Given the description of an element on the screen output the (x, y) to click on. 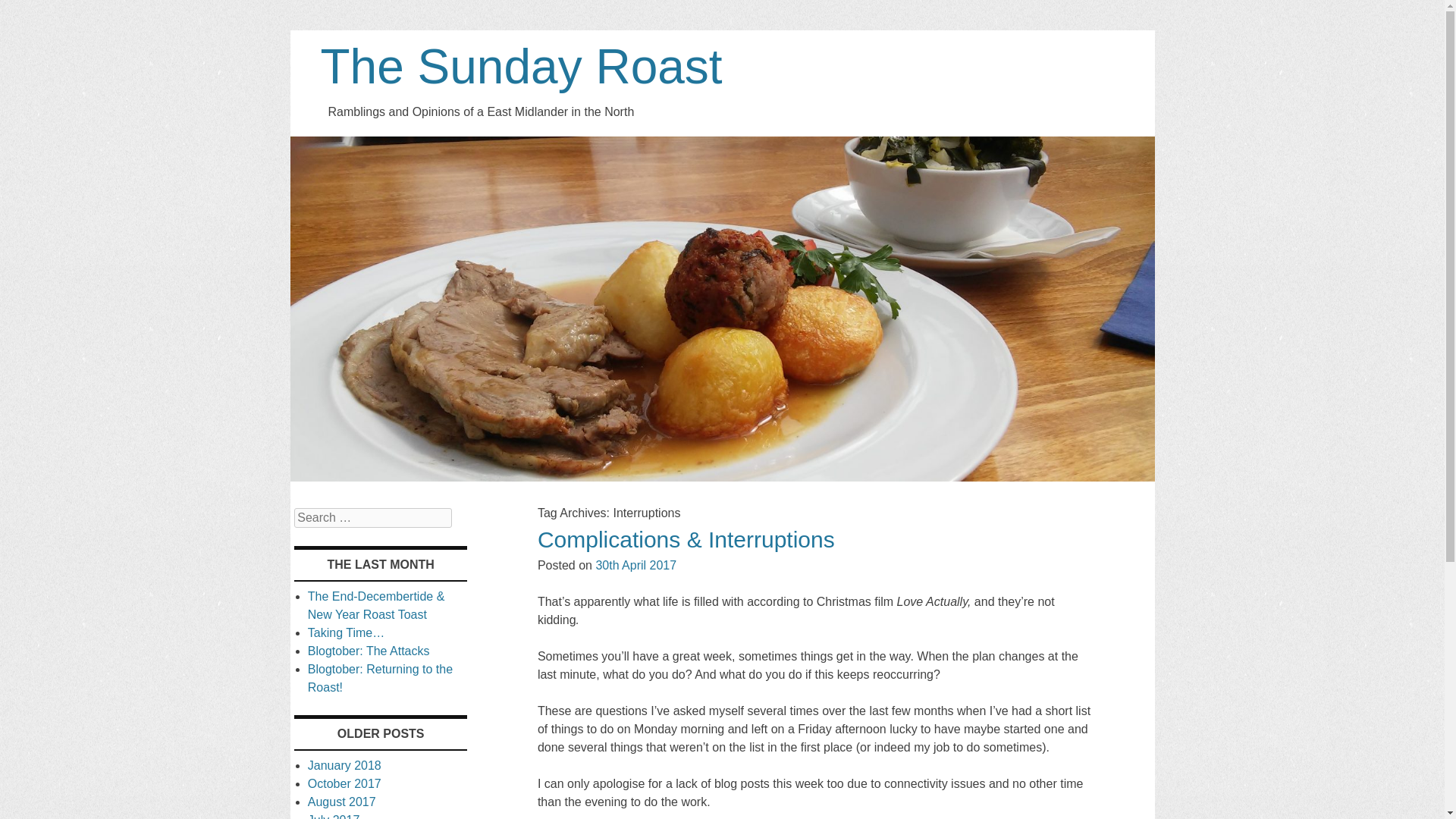
9:35 pm (636, 564)
August 2017 (341, 801)
The Sunday Roast (521, 66)
October 2017 (344, 783)
Blogtober: The Attacks (368, 650)
The Sunday Roast (721, 477)
July 2017 (333, 816)
Blogtober: Returning to the Roast! (379, 677)
30th April 2017 (636, 564)
January 2018 (344, 765)
The Sunday Roast (521, 66)
